Given the description of an element on the screen output the (x, y) to click on. 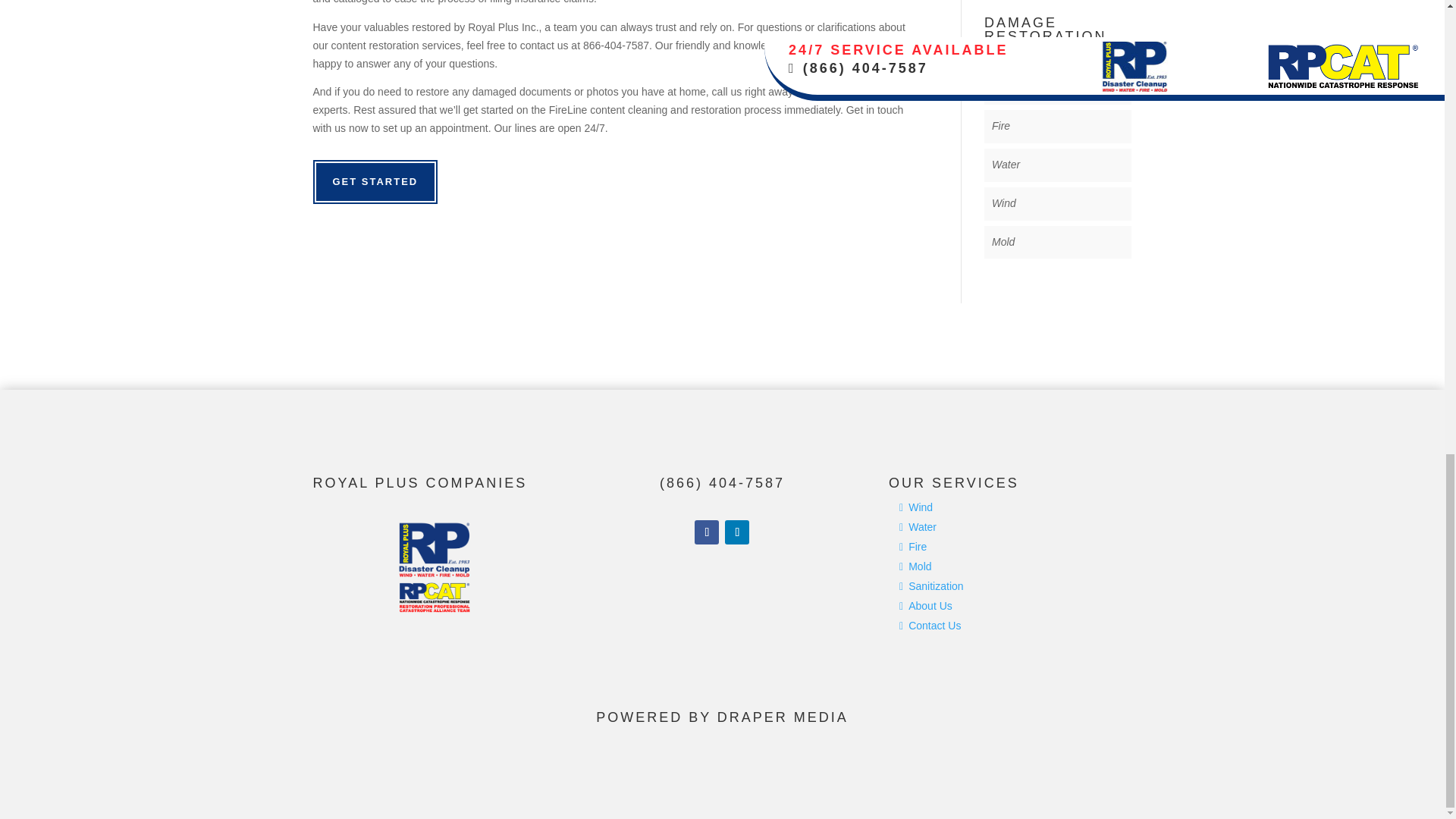
Follow on LinkedIn (737, 532)
Follow on Facebook (706, 532)
